Given the description of an element on the screen output the (x, y) to click on. 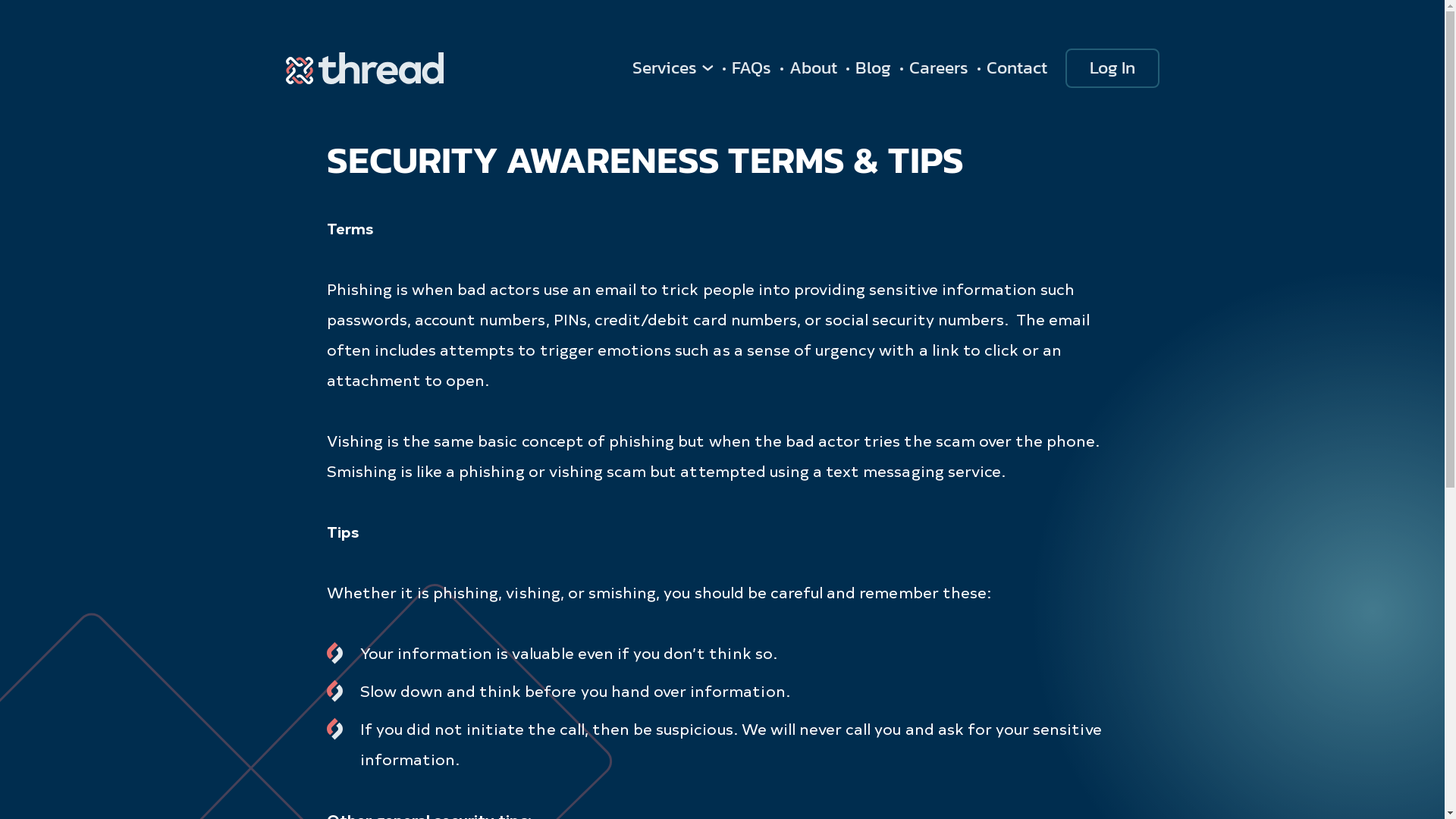
FAQs Element type: text (750, 67)
Services Element type: text (672, 67)
Careers Element type: text (937, 67)
Log In Element type: text (1111, 67)
About Element type: text (812, 67)
Blog Element type: text (873, 67)
Contact Element type: text (1015, 67)
